Given the description of an element on the screen output the (x, y) to click on. 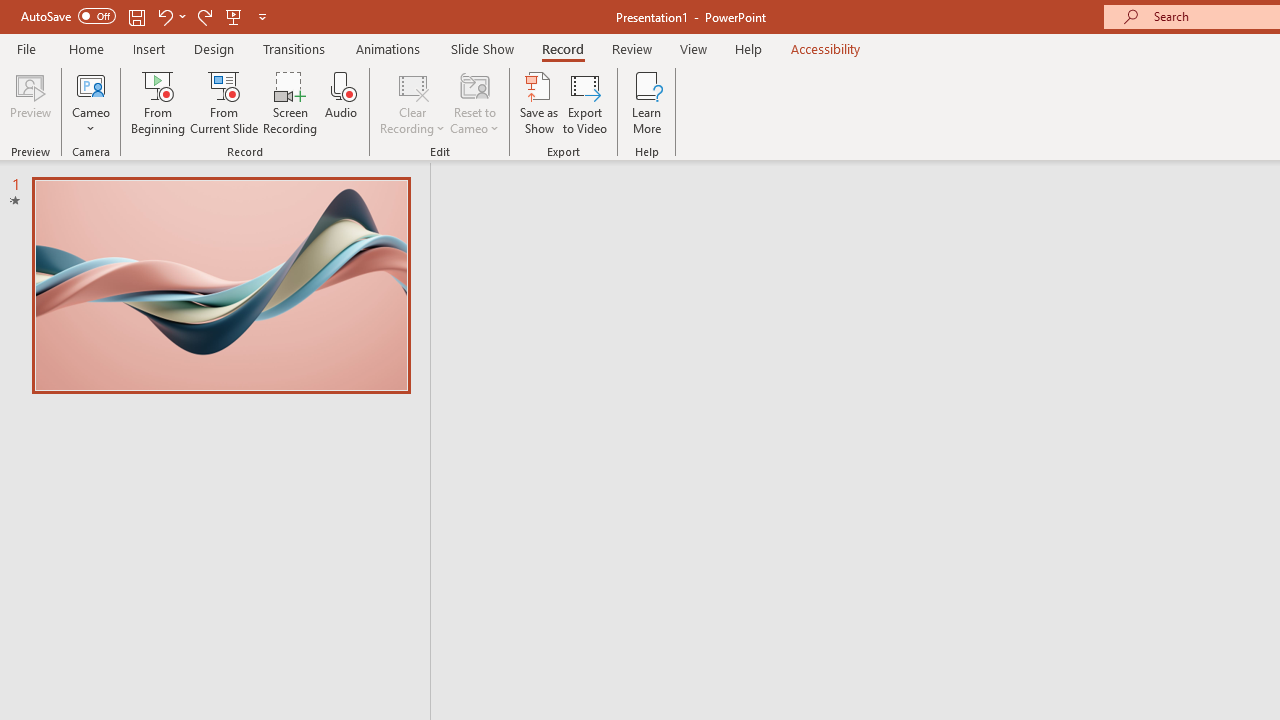
Reset to Cameo (474, 102)
Learn More (646, 102)
Clear Recording (412, 102)
Cameo (91, 84)
Cameo (91, 102)
Audio (341, 102)
